Given the description of an element on the screen output the (x, y) to click on. 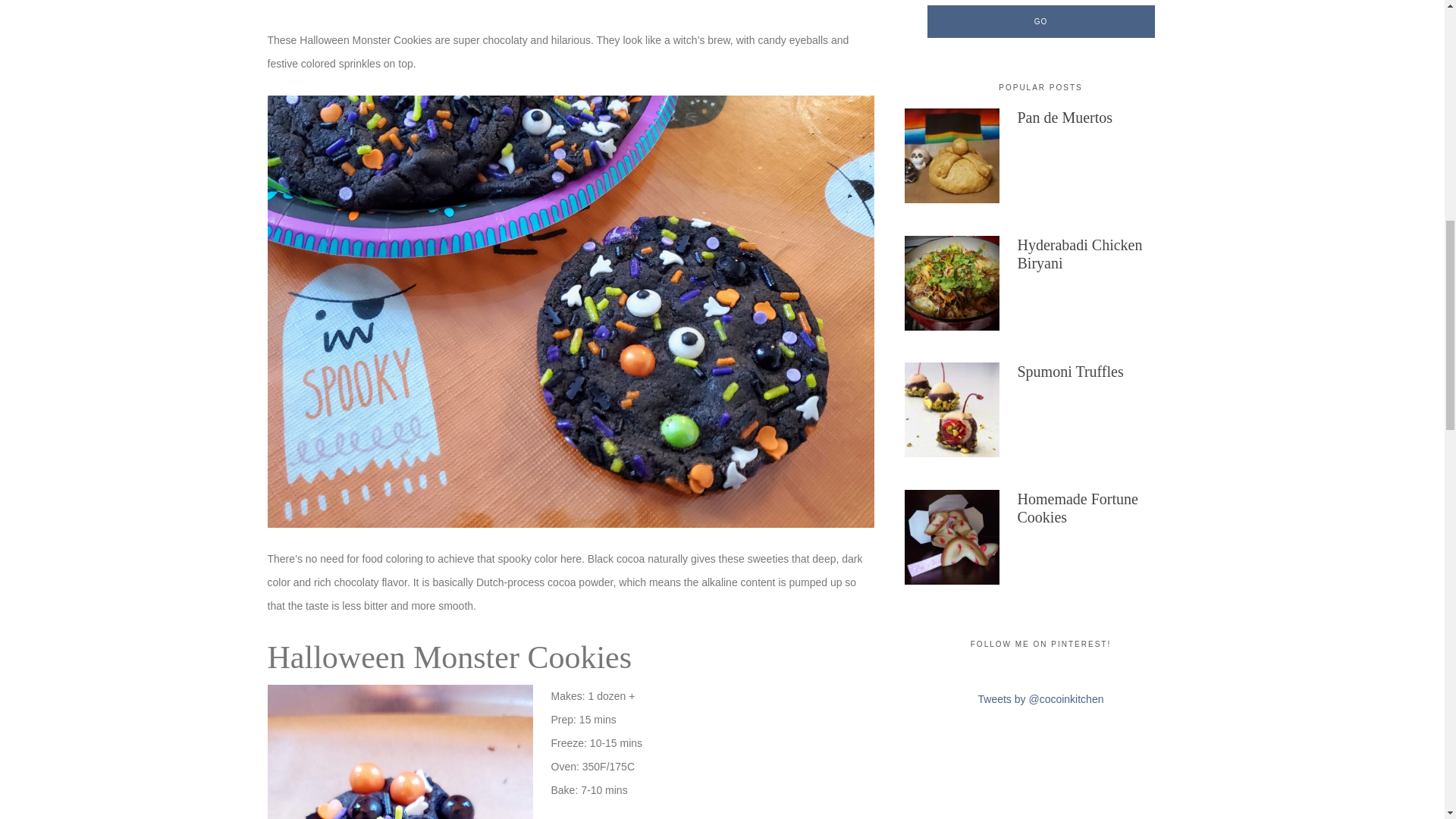
Go (1040, 20)
